Given the description of an element on the screen output the (x, y) to click on. 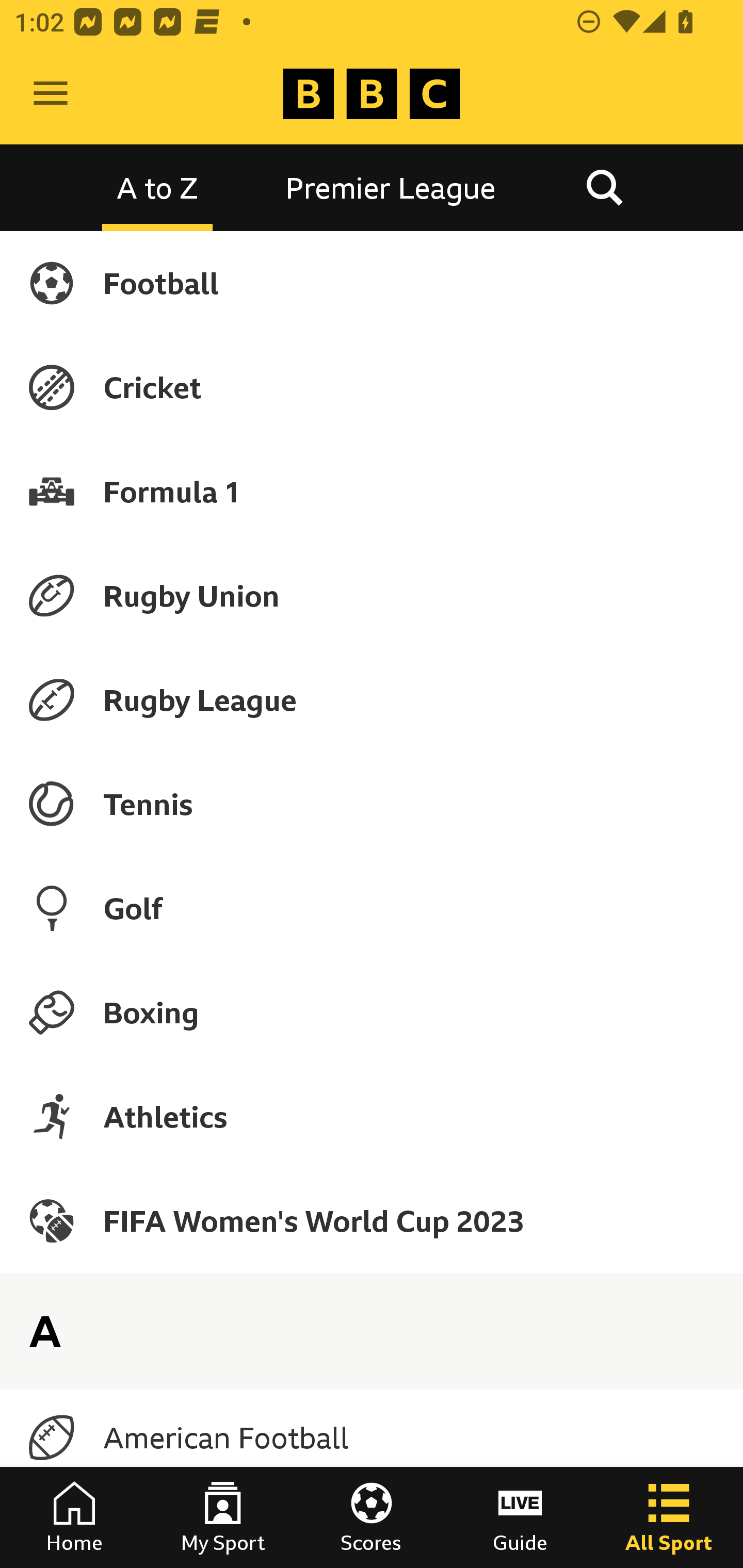
Open Menu (50, 93)
Premier League (390, 187)
Search (604, 187)
Football (371, 282)
Cricket (371, 387)
Formula 1 (371, 491)
Rugby Union (371, 595)
Rugby League (371, 699)
Tennis (371, 804)
Golf (371, 907)
Boxing (371, 1011)
Athletics (371, 1116)
FIFA Women's World Cup 2023 (371, 1220)
American Football (371, 1437)
Home (74, 1517)
My Sport (222, 1517)
Scores (371, 1517)
Guide (519, 1517)
